Given the description of an element on the screen output the (x, y) to click on. 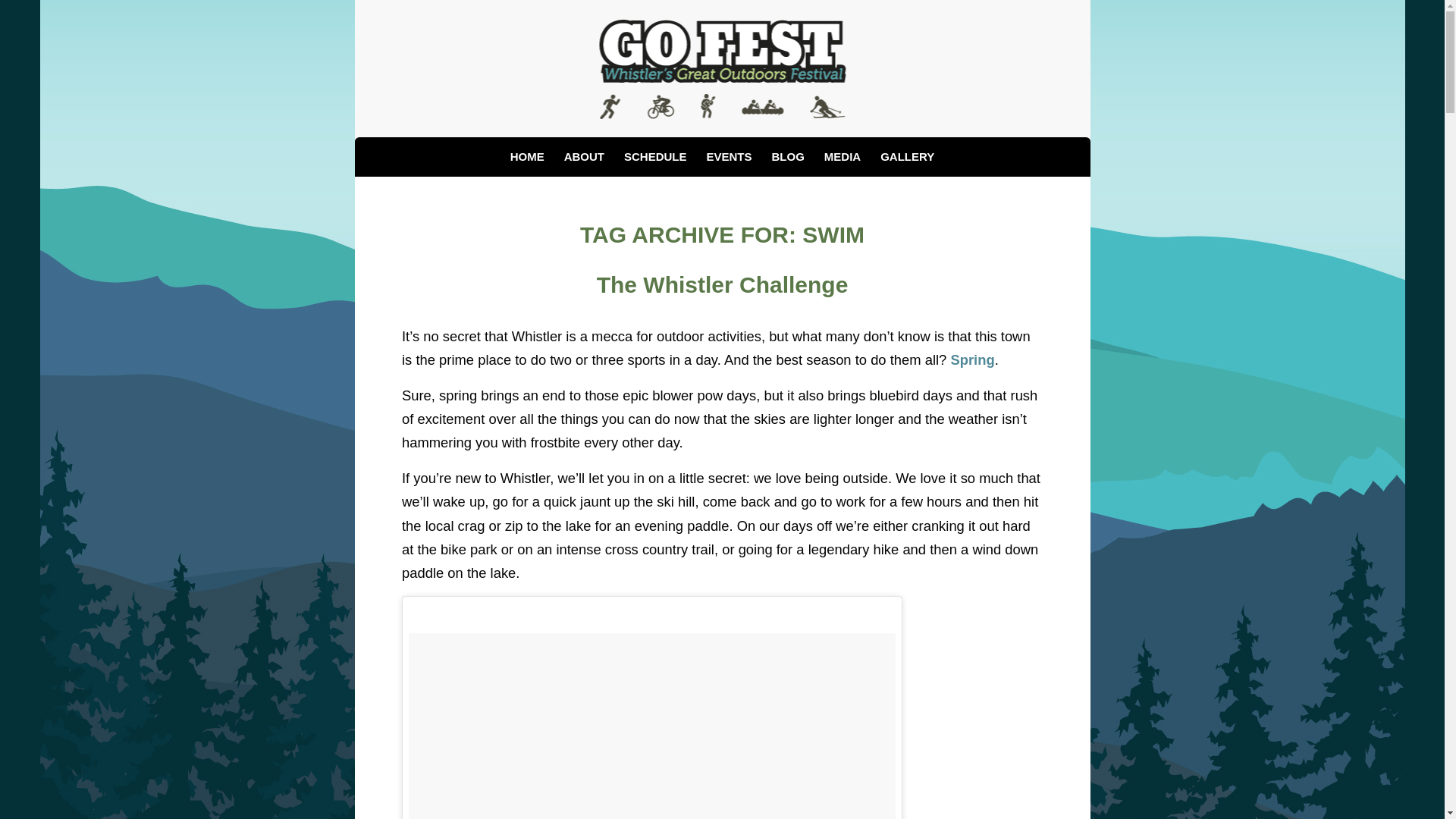
ABOUT (584, 157)
HOME (527, 157)
SCHEDULE (655, 157)
